Given the description of an element on the screen output the (x, y) to click on. 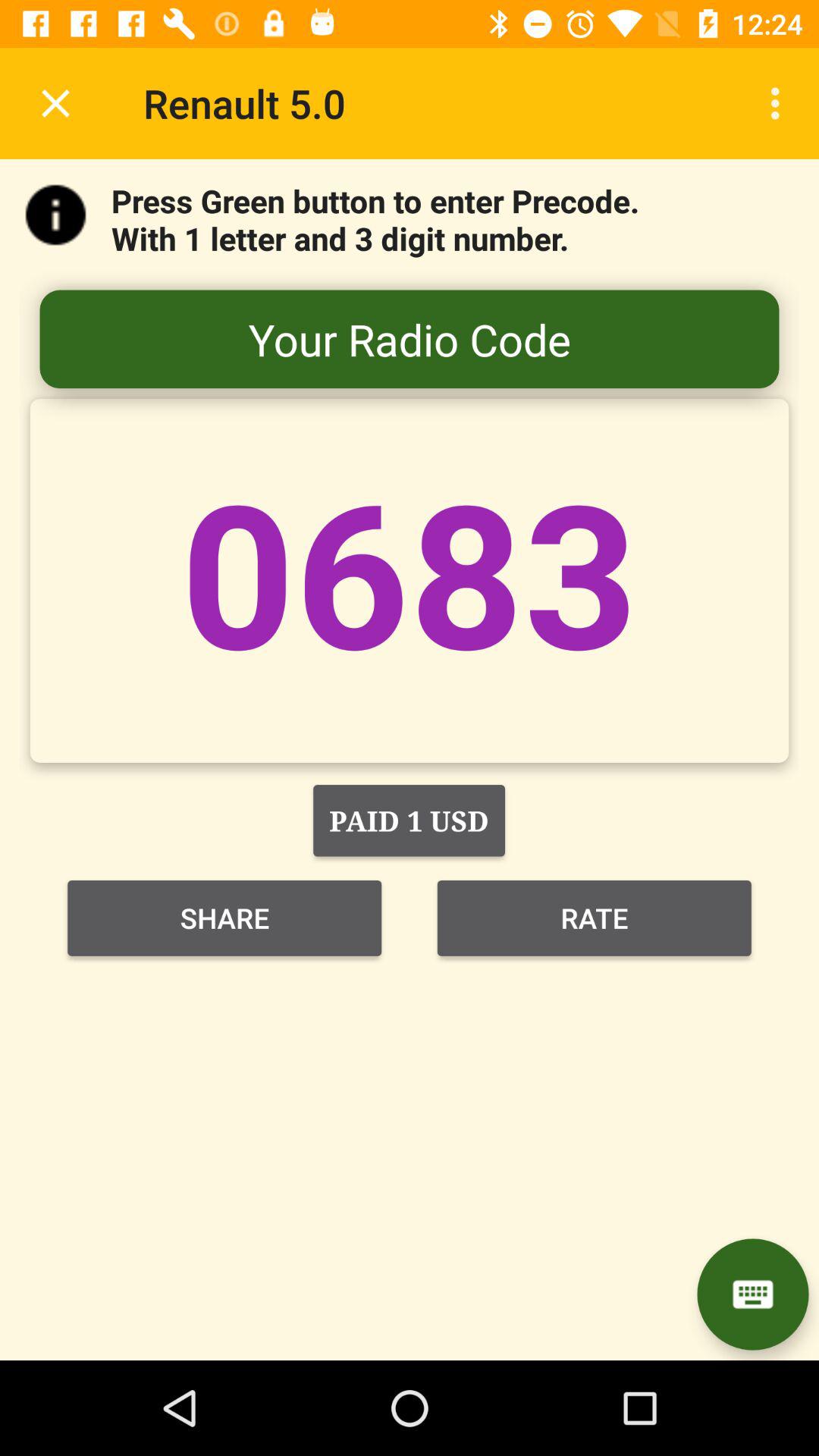
open the item next to renault 5.0 icon (779, 103)
